Given the description of an element on the screen output the (x, y) to click on. 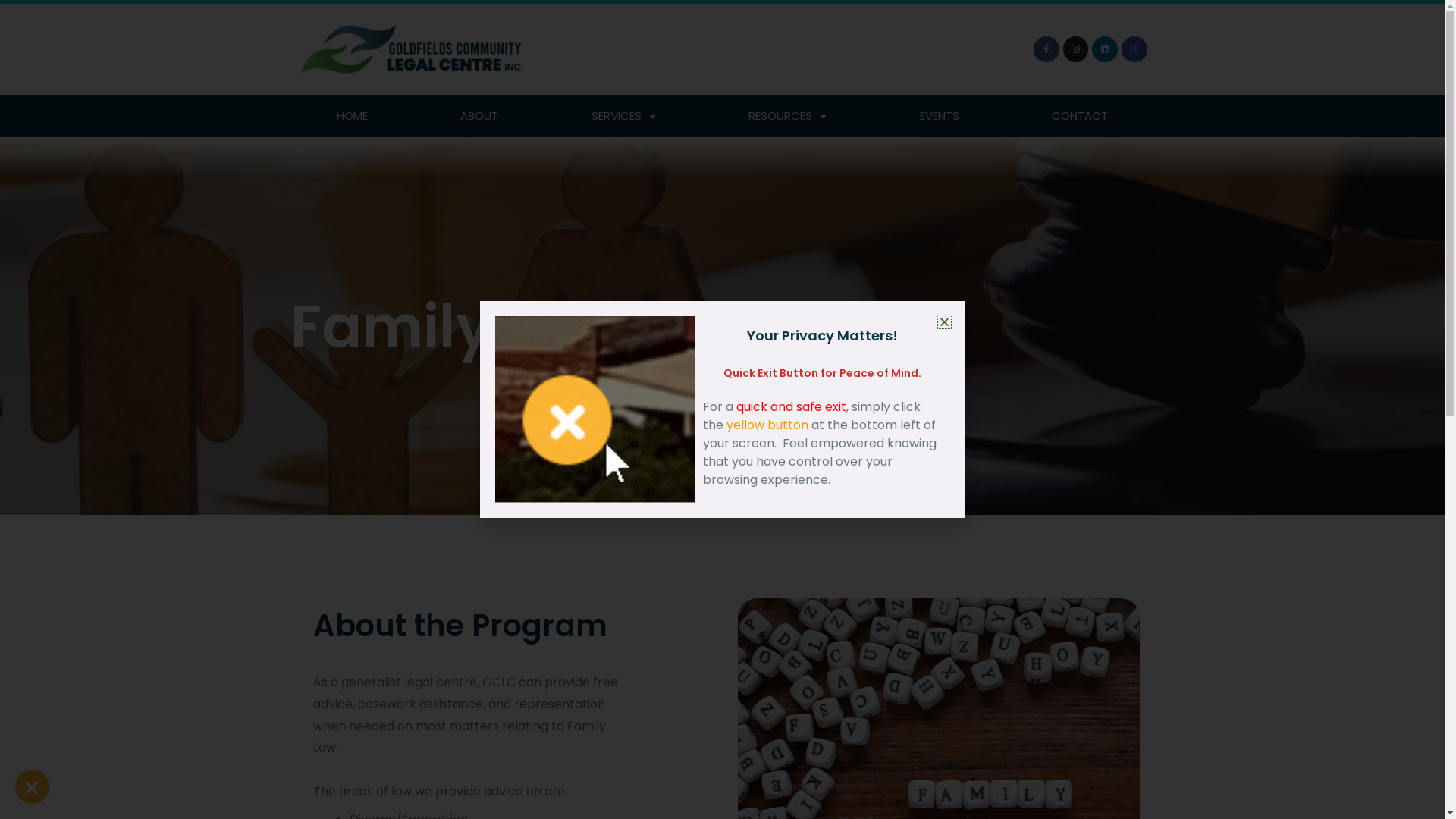
SERVICES Element type: text (623, 115)
HOME Element type: text (351, 115)
EVENTS Element type: text (939, 115)
CONTACT Element type: text (1079, 115)
ABOUT Element type: text (479, 115)
RESOURCES Element type: text (787, 115)
